Given the description of an element on the screen output the (x, y) to click on. 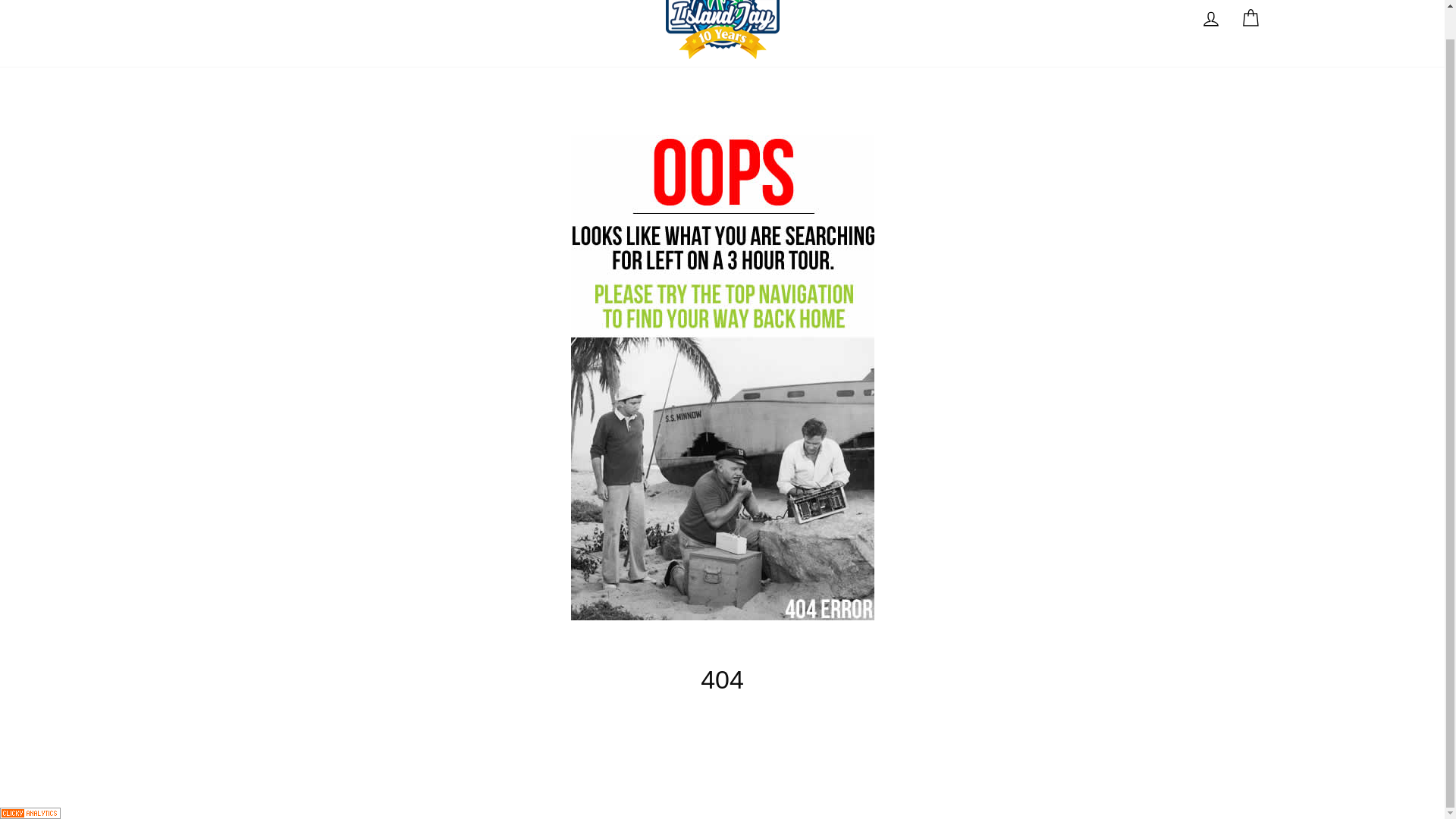
Cart (1210, 17)
account (1249, 17)
